Given the description of an element on the screen output the (x, y) to click on. 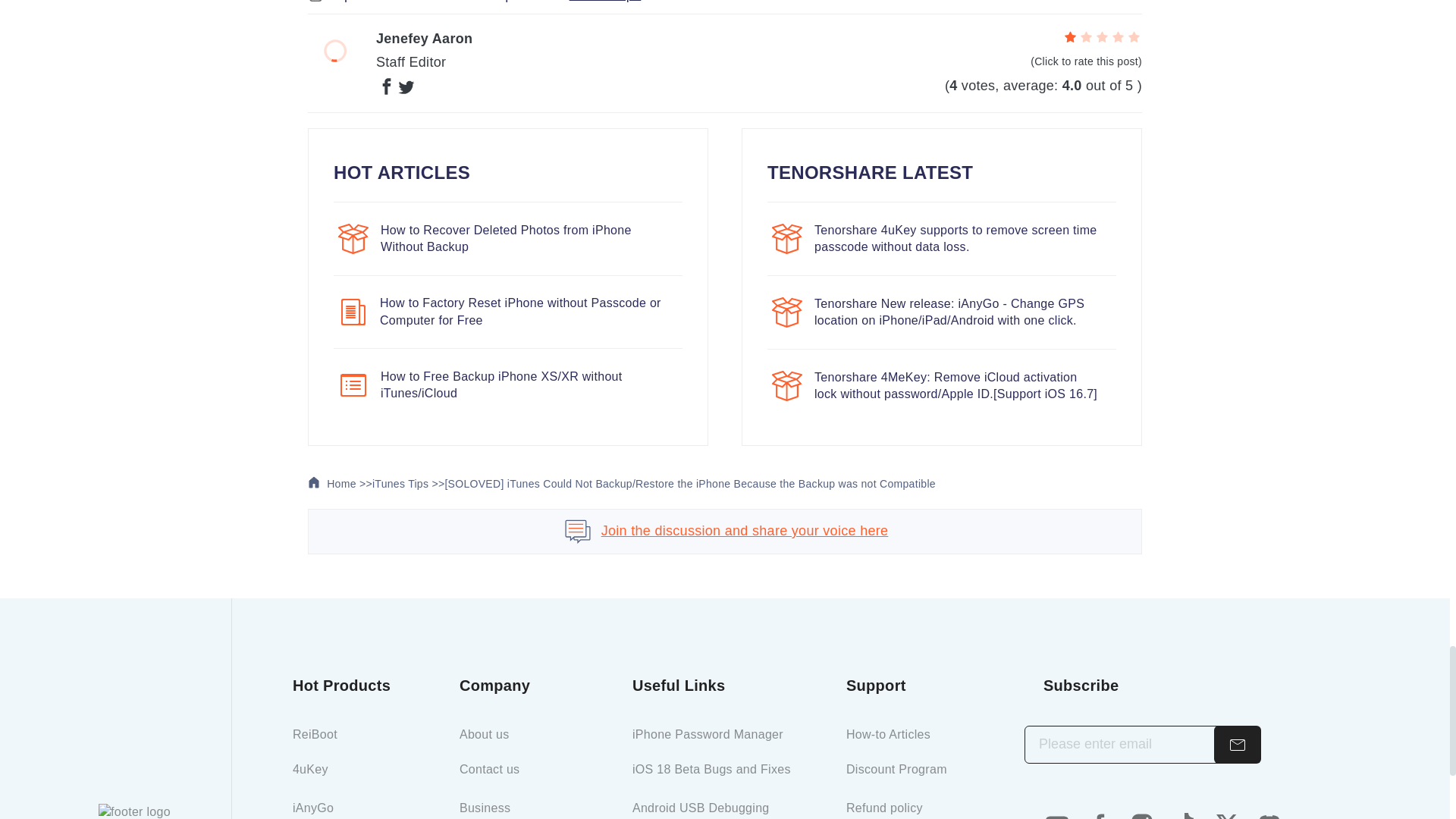
5 (1133, 37)
1 (1070, 37)
3 (1102, 37)
2 (1086, 37)
4 (1118, 37)
